Given the description of an element on the screen output the (x, y) to click on. 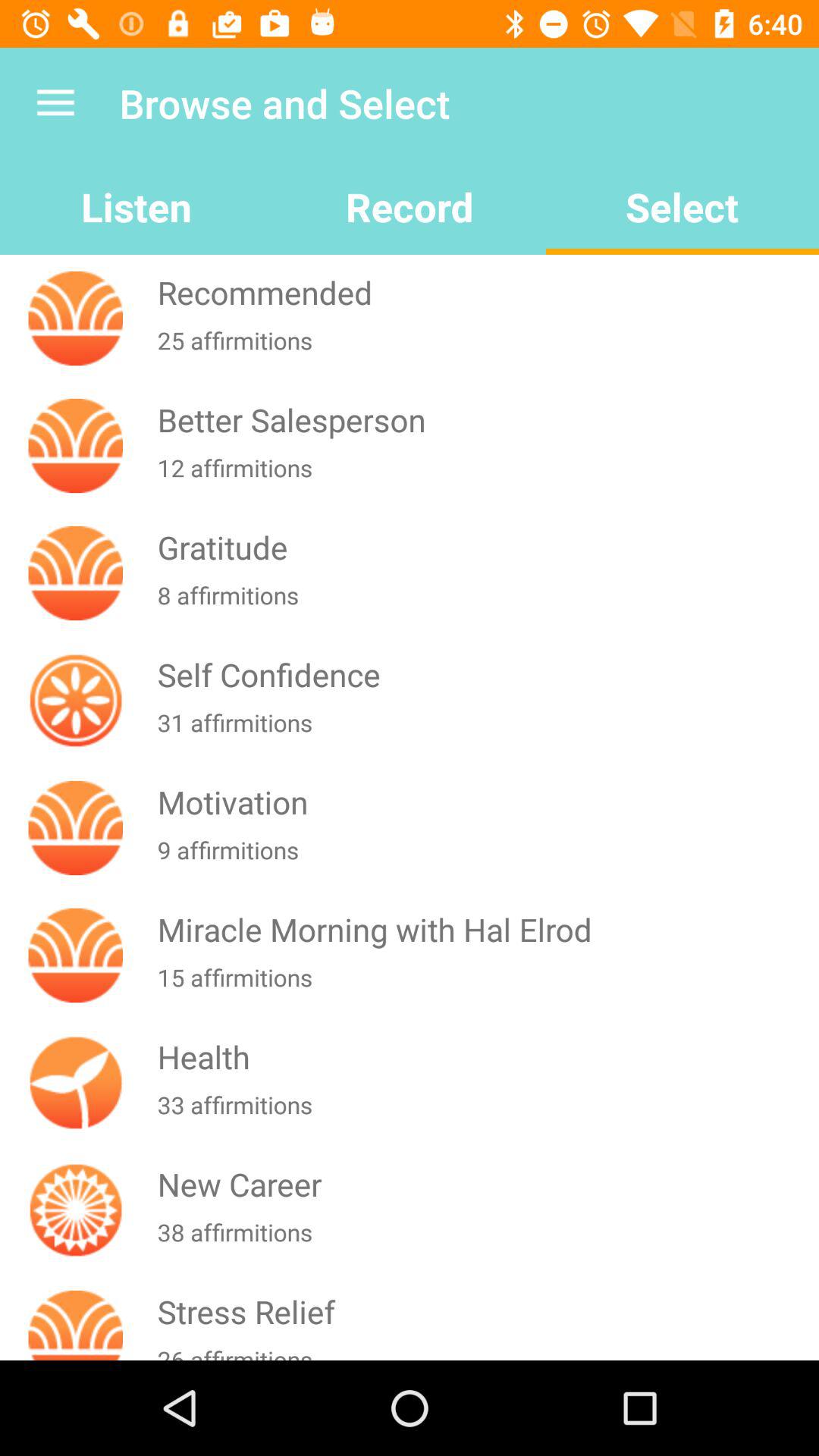
turn off 26 affirmitions icon (484, 1351)
